Given the description of an element on the screen output the (x, y) to click on. 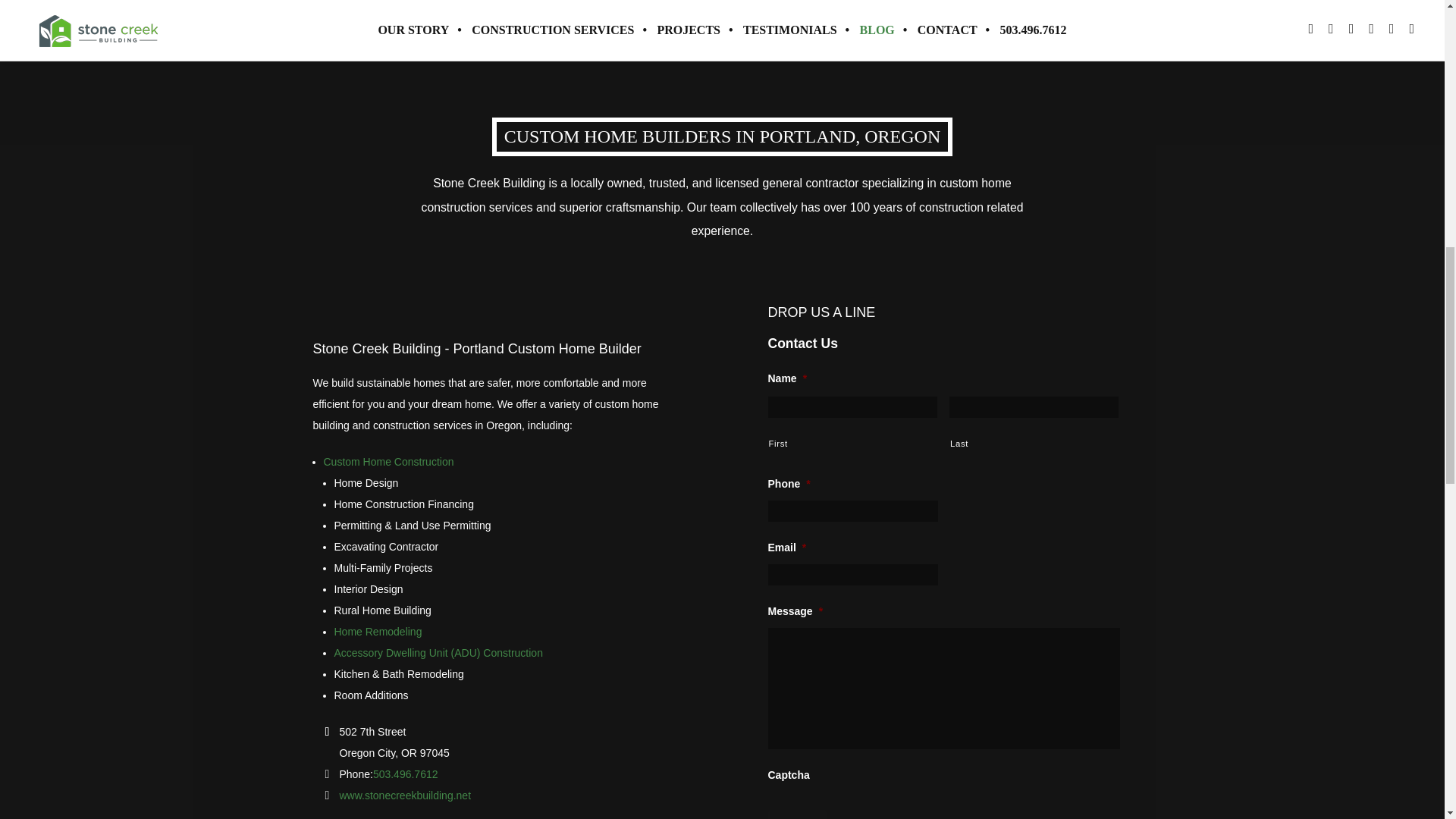
Submit (797, 814)
